Given the description of an element on the screen output the (x, y) to click on. 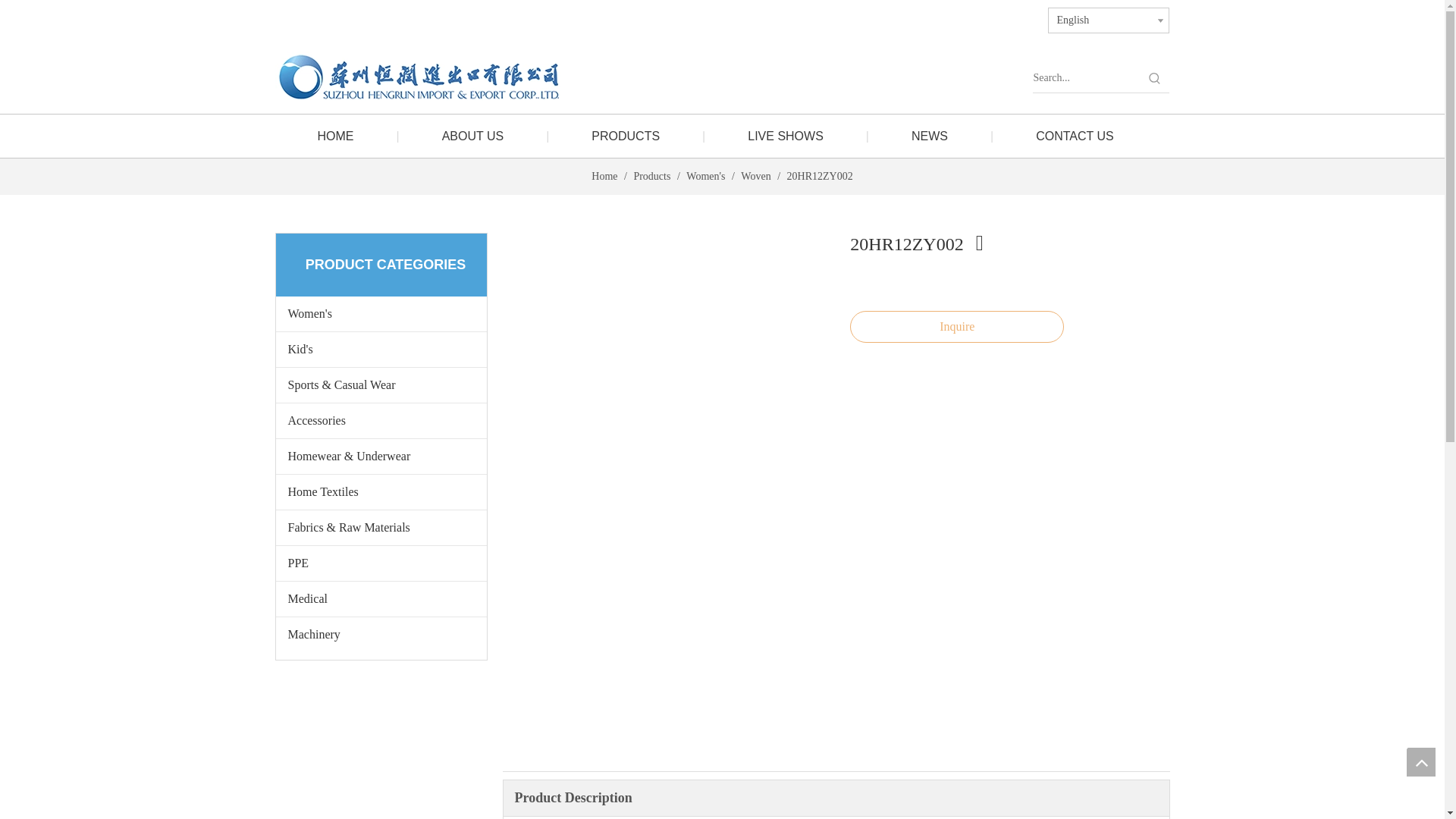
 Accessories (381, 420)
CONTACT US (1074, 136)
Home (605, 175)
Women's (706, 175)
Women's (381, 313)
NEWS (929, 136)
ABOUT US (472, 136)
PRODUCTS (624, 136)
Products (652, 175)
Linkedin (937, 17)
